Given the description of an element on the screen output the (x, y) to click on. 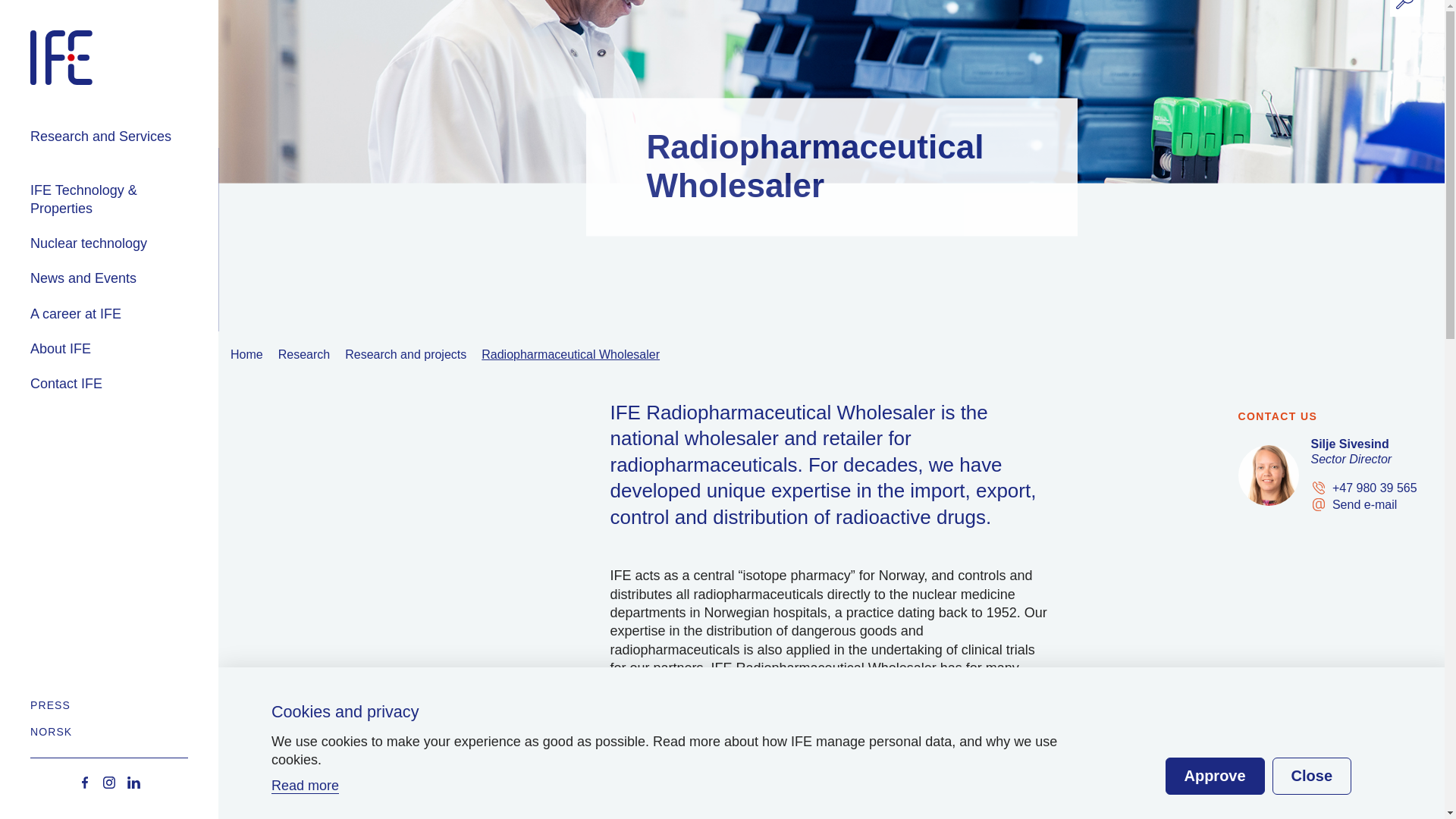
Master thesis at IFE? (162, 285)
Sustainability and ethics (153, 274)
Go to Front Page (108, 782)
About IFE (124, 348)
IFE Employees (153, 105)
Top level management (153, 146)
Nuclear technology (124, 243)
IFE Board and annual reports (153, 195)
IFE History (153, 235)
Research and Services (124, 149)
About IFE (153, 78)
Go to Front Page (132, 782)
Laboratories (156, 222)
See Vacancies (162, 193)
Invoice information (158, 282)
